Given the description of an element on the screen output the (x, y) to click on. 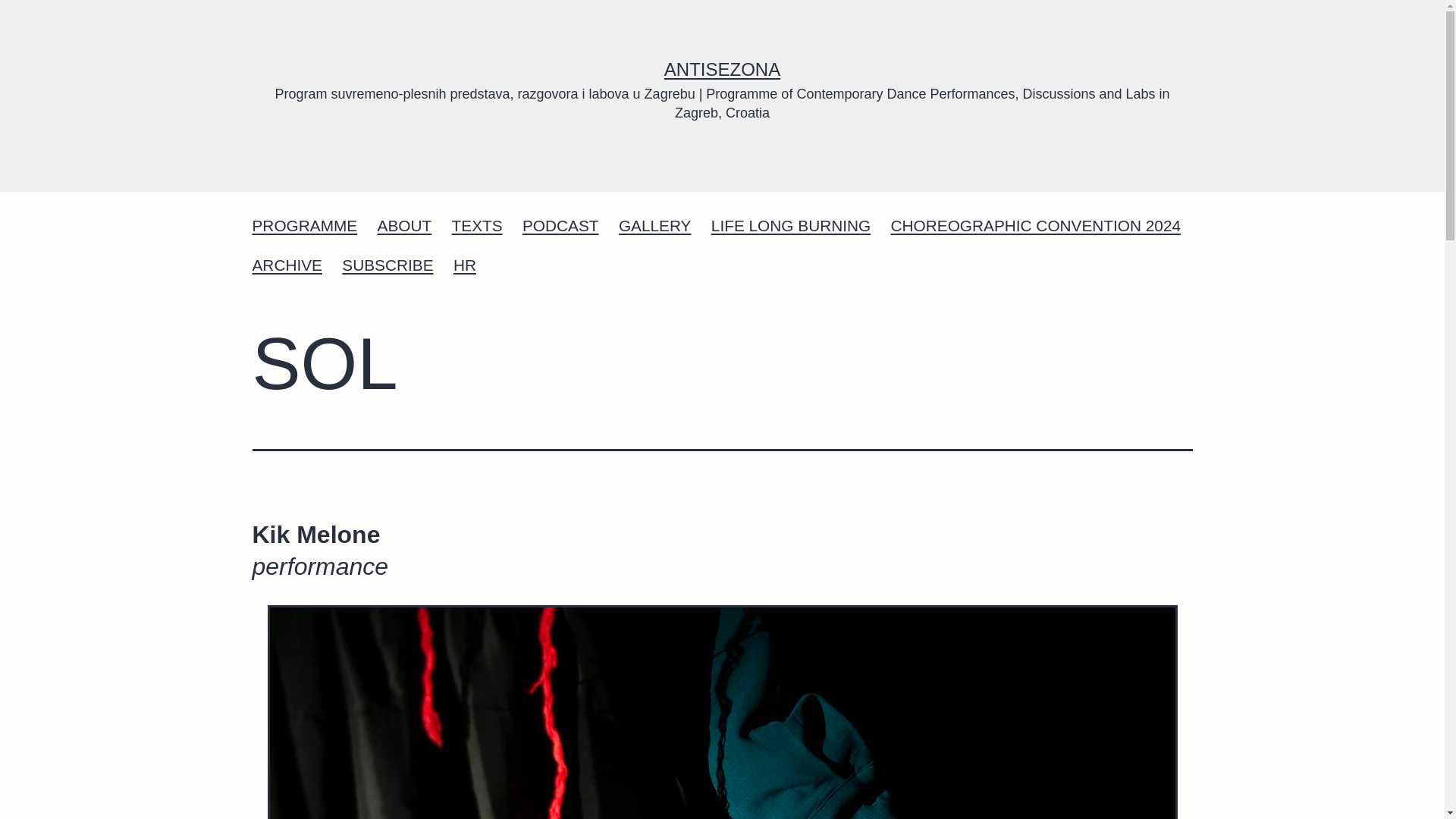
TEXTS (476, 226)
PROGRAMME (303, 226)
ARCHIVE (286, 265)
LIFE LONG BURNING (790, 226)
ABOUT (403, 226)
PODCAST (560, 226)
CHOREOGRAPHIC CONVENTION 2024 (1035, 226)
ANTISEZONA (721, 68)
GALLERY (654, 226)
SUBSCRIBE (387, 265)
HR (465, 265)
